Given the description of an element on the screen output the (x, y) to click on. 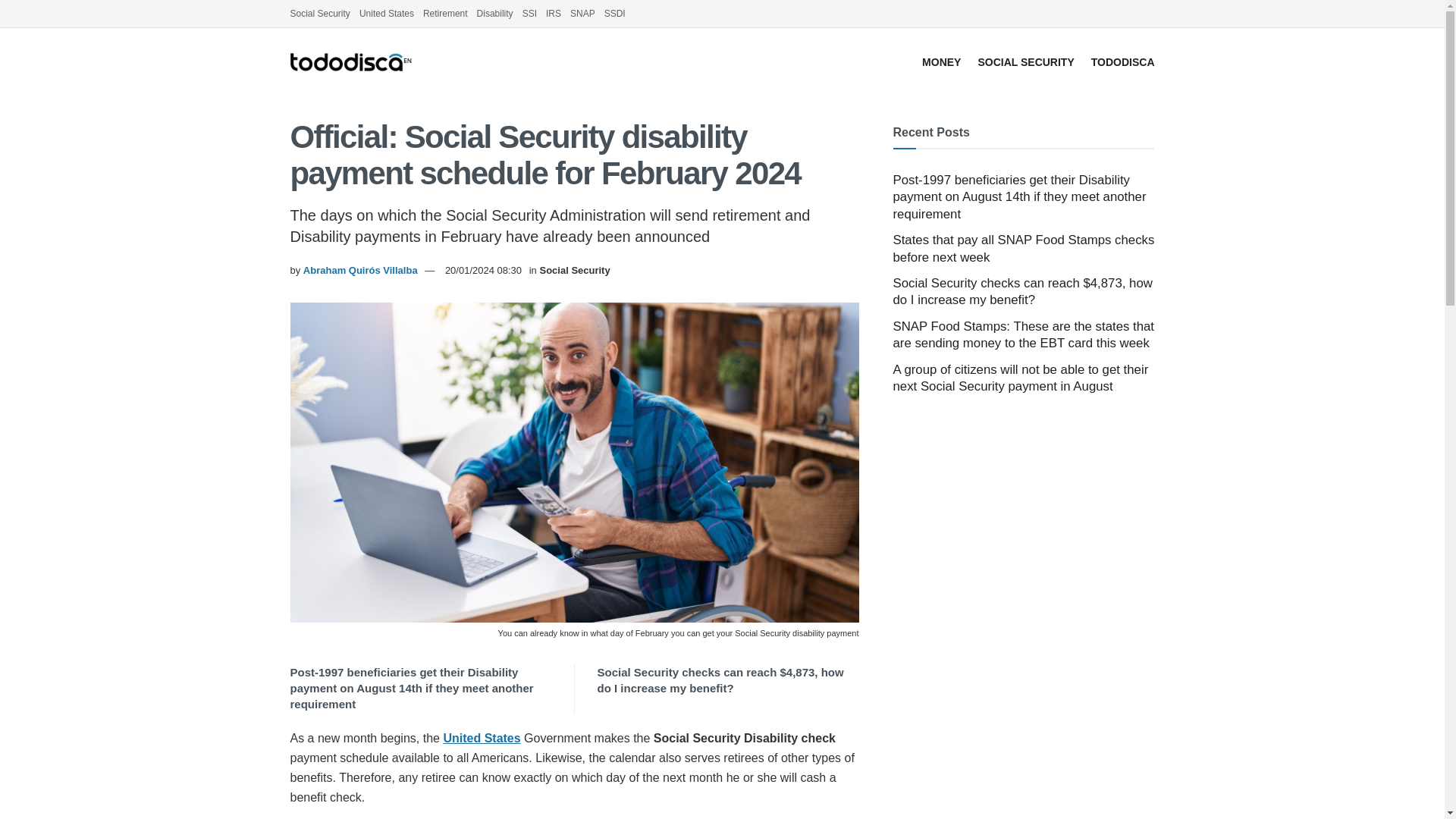
MONEY (940, 61)
SOCIAL SECURITY (1025, 61)
TODODISCA (1122, 61)
United States (480, 738)
SNAP (582, 13)
Retirement (445, 13)
Disability (495, 13)
Social Security (574, 270)
Social Security (319, 13)
United States (386, 13)
States that pay all SNAP Food Stamps checks before next week (1023, 247)
